Given the description of an element on the screen output the (x, y) to click on. 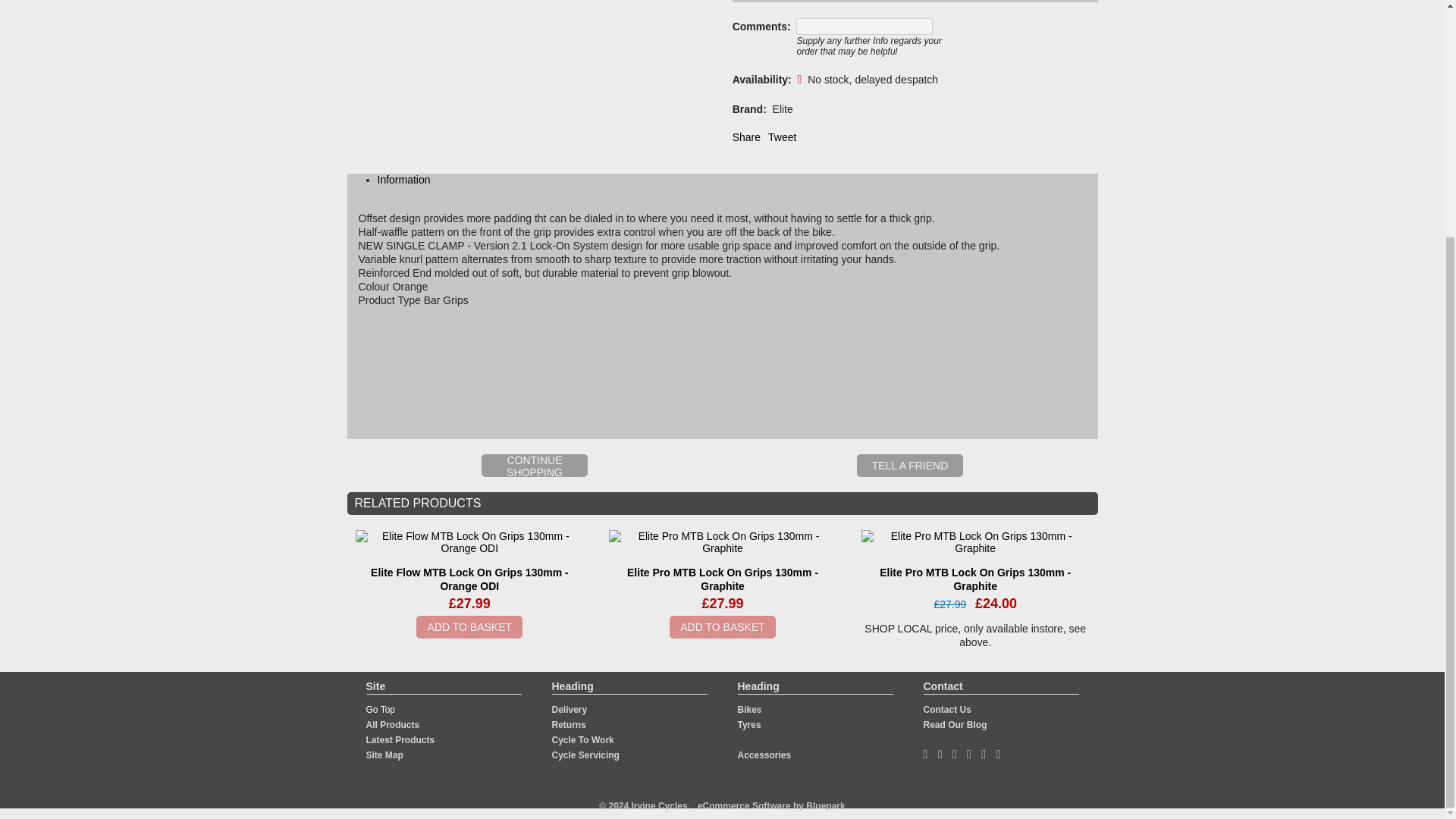
All Products (392, 724)
Contact Us (947, 709)
ADD TO BASKET (722, 626)
ADD TO BASKET (469, 626)
very (578, 709)
Share (746, 137)
Deli (560, 709)
TELL A FRIEND (909, 465)
Site Map (384, 755)
Cycle (563, 755)
